Given the description of an element on the screen output the (x, y) to click on. 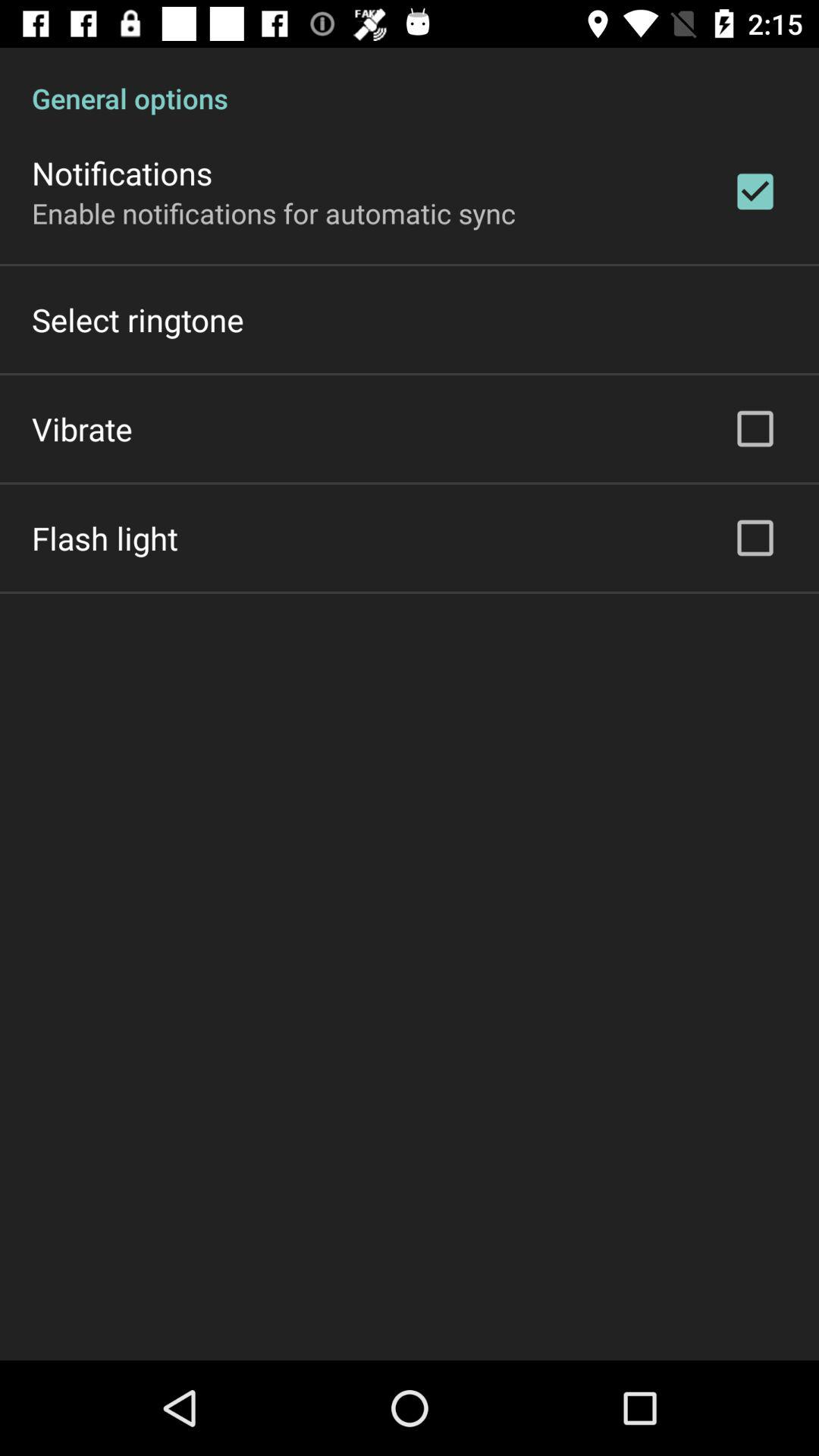
jump until select ringtone item (137, 319)
